Given the description of an element on the screen output the (x, y) to click on. 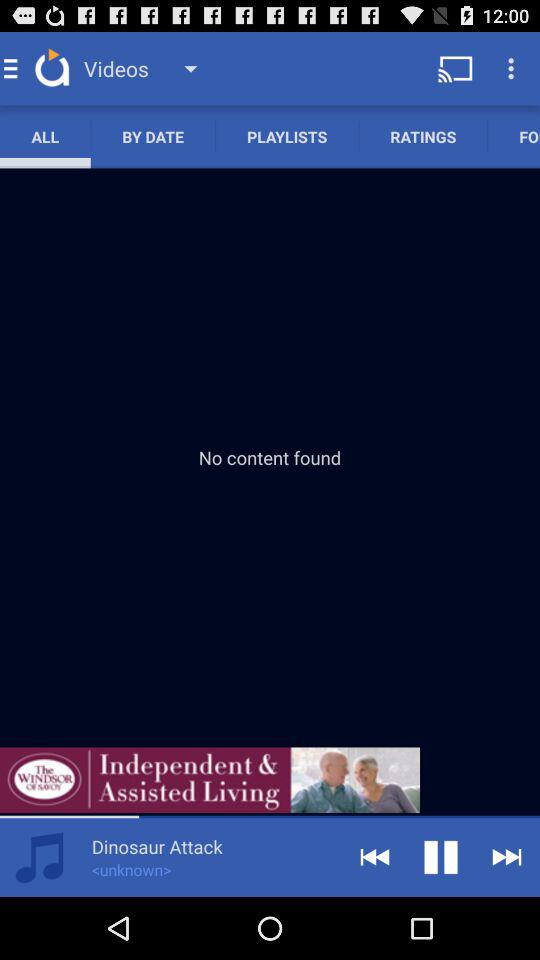
go to advertisement (210, 780)
